Given the description of an element on the screen output the (x, y) to click on. 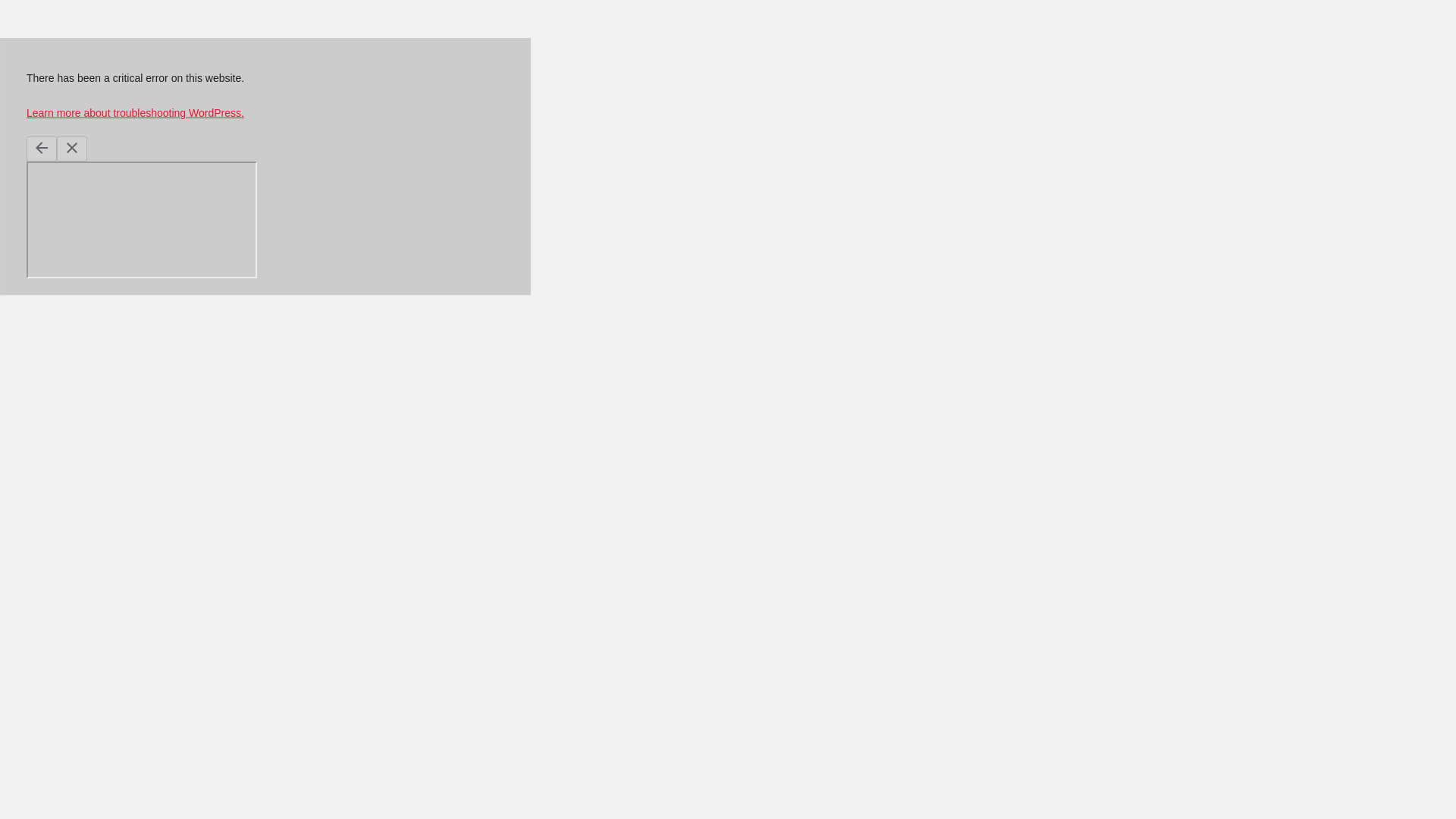
Learn more about troubleshooting WordPress. (135, 112)
